Given the description of an element on the screen output the (x, y) to click on. 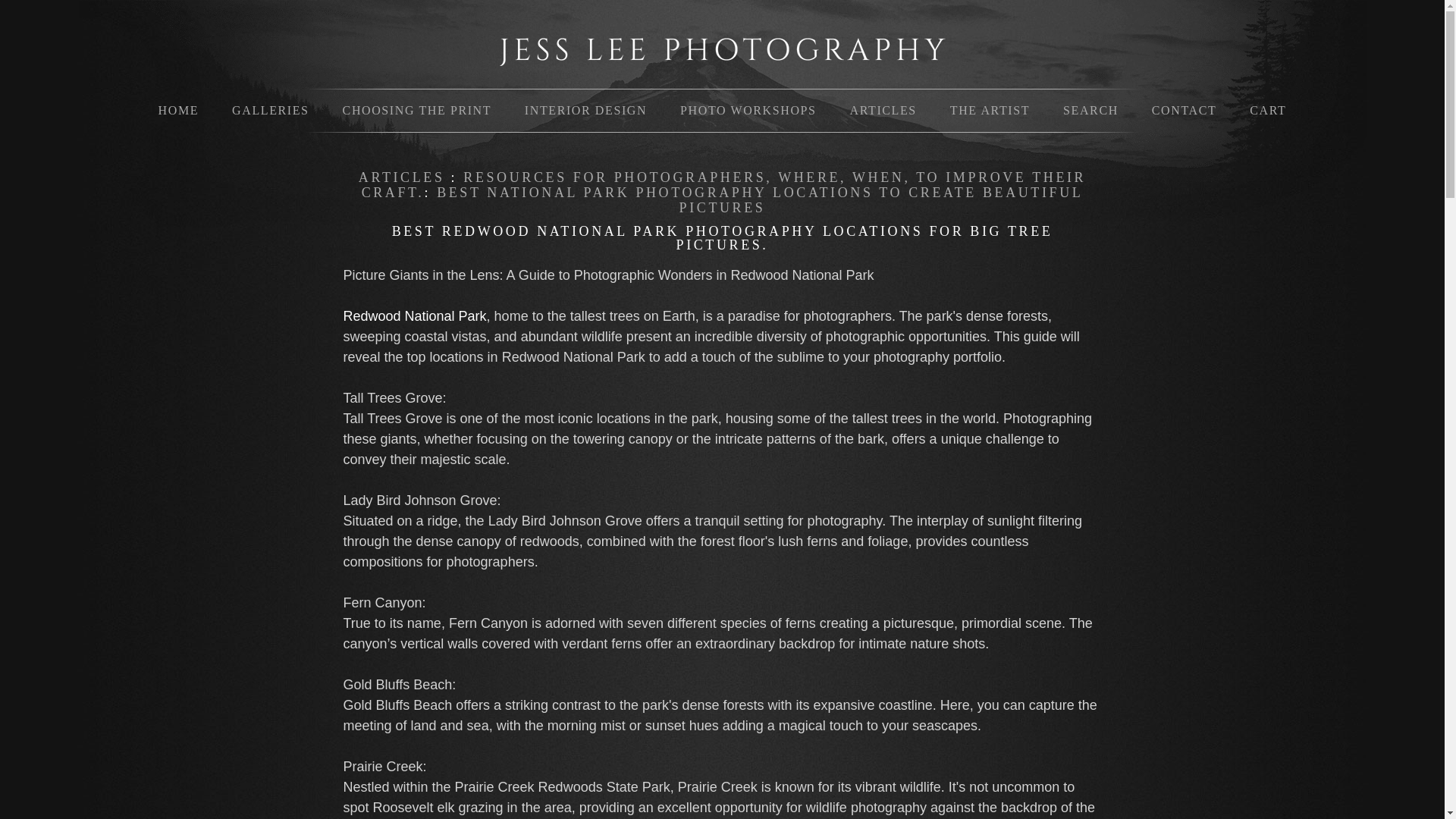
GALLERIES (269, 110)
CART (1267, 110)
ARTICLES (404, 177)
THE ARTIST (990, 110)
PHOTO WORKSHOPS (748, 110)
SEARCH (1090, 110)
Redwood National Park (607, 336)
Photos by Jess Lee (721, 55)
INTERIOR DESIGN (588, 110)
